Given the description of an element on the screen output the (x, y) to click on. 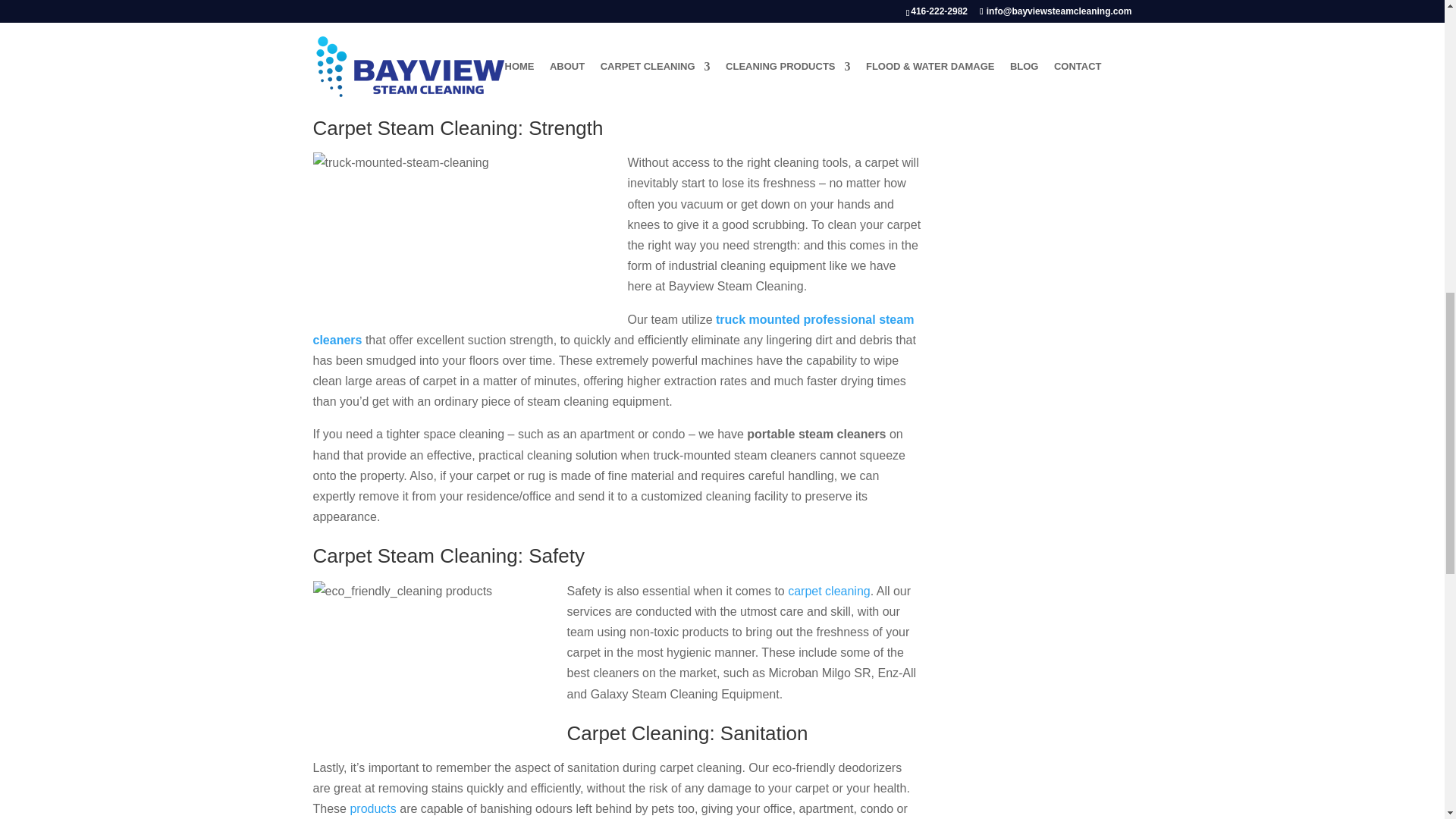
carpet cleaning (828, 590)
non-toxic cleaning products (386, 68)
products (372, 808)
truck mounted professional steam cleaners (613, 329)
